Given the description of an element on the screen output the (x, y) to click on. 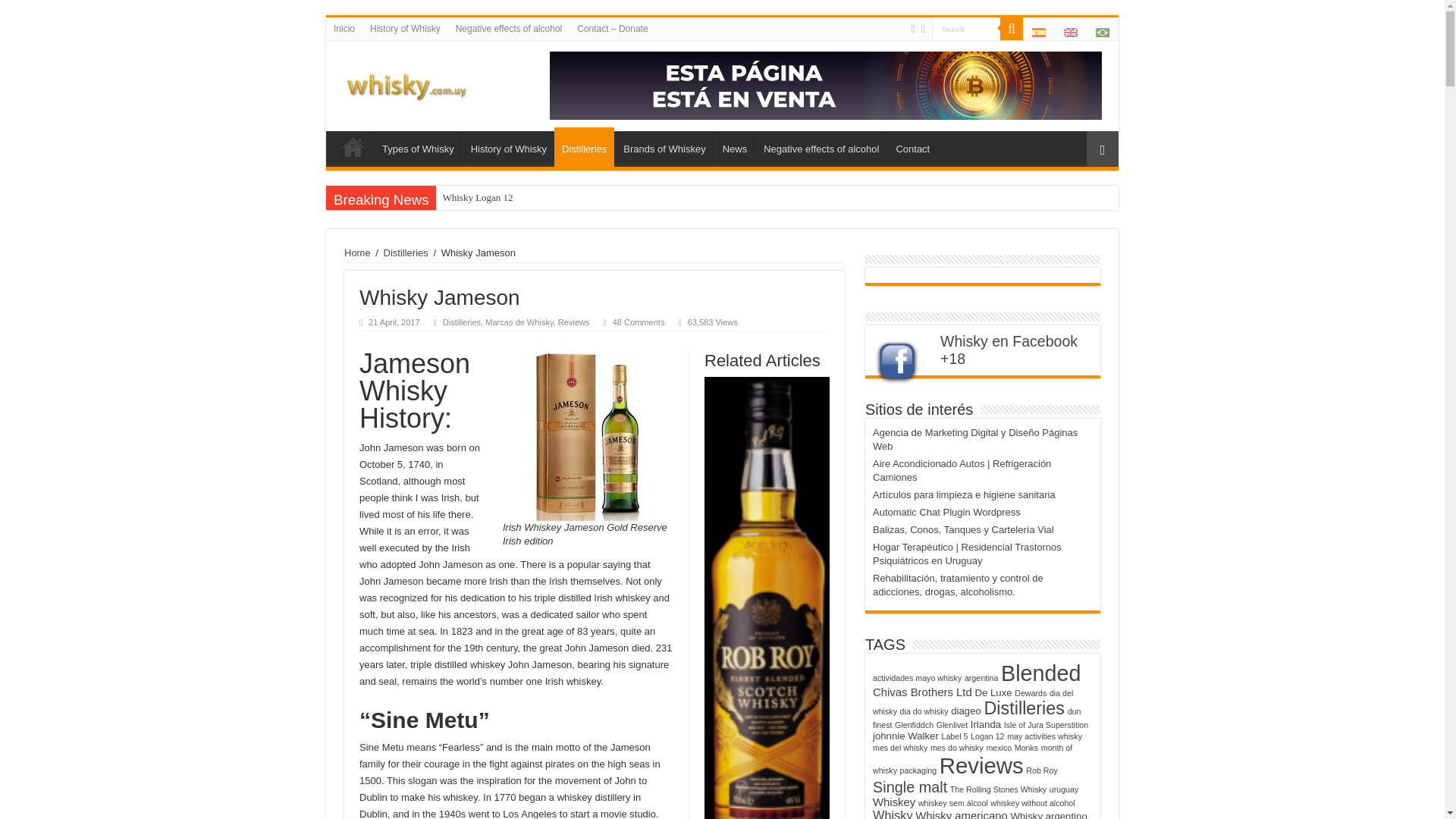
Distilleries (584, 147)
Negative effects of alcohol (820, 146)
History of Whisky (405, 28)
Search (965, 28)
Brands of Whiskey (663, 146)
Contact (911, 146)
Inicio (344, 28)
Negative effects of alcohol (509, 28)
Home (352, 146)
History of Whisky (508, 146)
Search (965, 28)
News (734, 146)
Whisky Logan 12 (476, 197)
Search (965, 28)
Types of Whisky (417, 146)
